Given the description of an element on the screen output the (x, y) to click on. 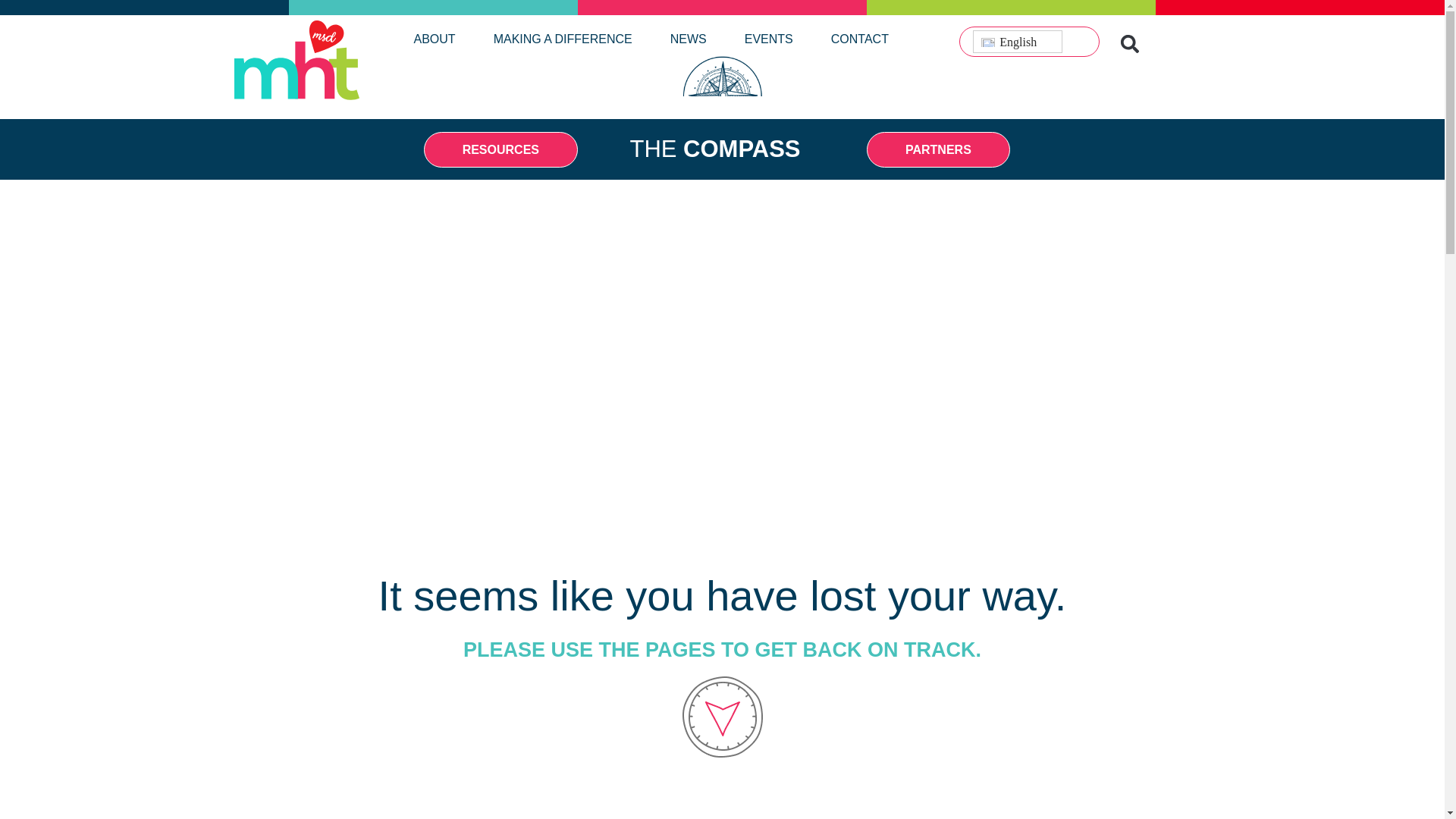
CONTACT (859, 38)
NEWS (687, 38)
EVENTS (768, 38)
English (1017, 41)
MAKING A DIFFERENCE (562, 38)
PARTNERS (938, 149)
RESOURCES (500, 149)
ABOUT (434, 38)
